Given the description of an element on the screen output the (x, y) to click on. 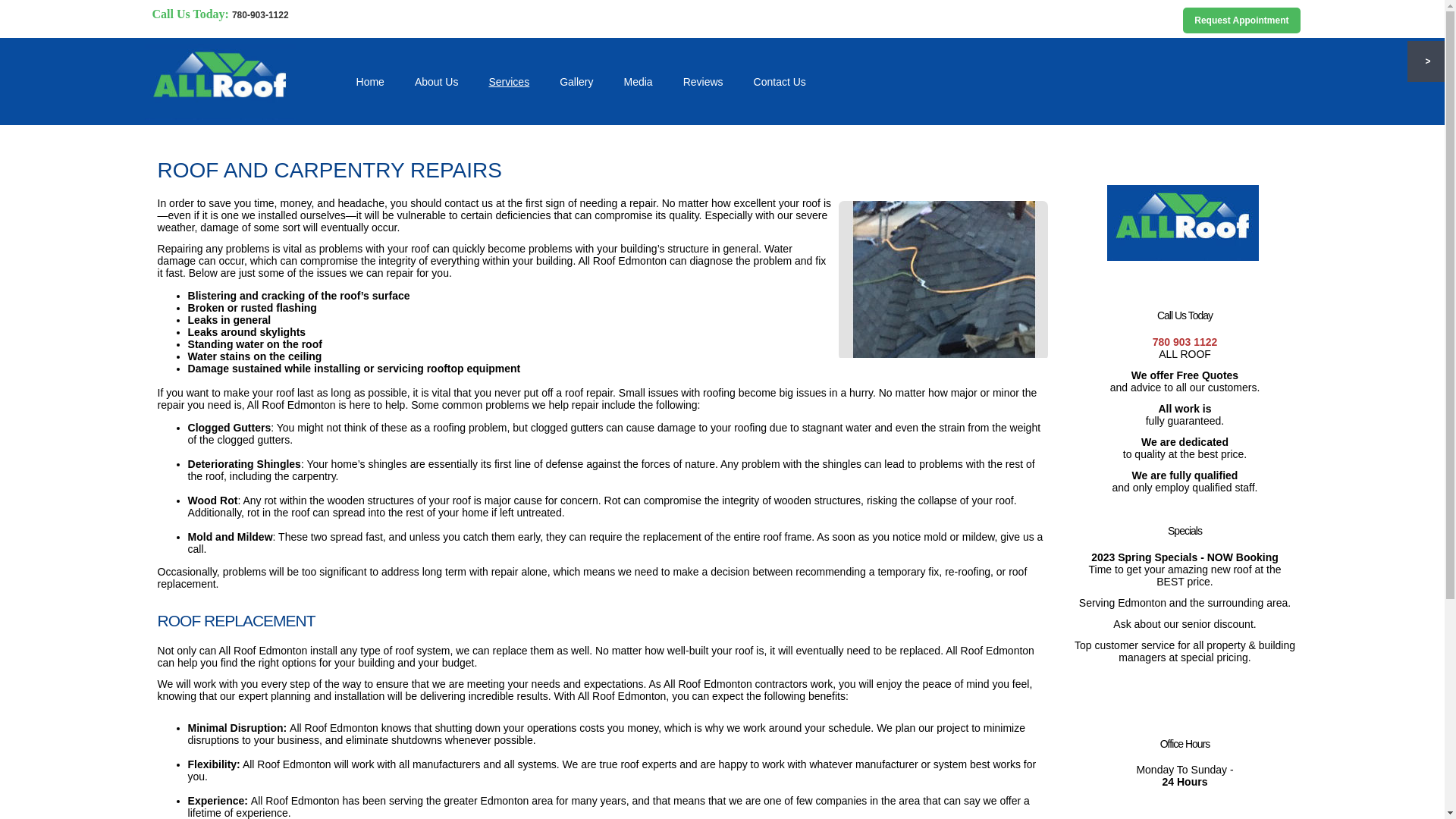
> Element type: text (1425, 60)
Click To Enlarge Element type: hover (1182, 222)
Media Element type: text (638, 81)
Gallery Element type: text (576, 81)
780 903 1122 Element type: text (1184, 342)
Request Appointment Element type: text (1241, 20)
Services Element type: text (508, 81)
Click To Enlarge Element type: hover (943, 278)
Reviews Element type: text (703, 81)
Contact Us Element type: text (779, 81)
About Us Element type: text (436, 81)
Home Element type: text (370, 81)
780-903-1122 Element type: text (260, 14)
